Given the description of an element on the screen output the (x, y) to click on. 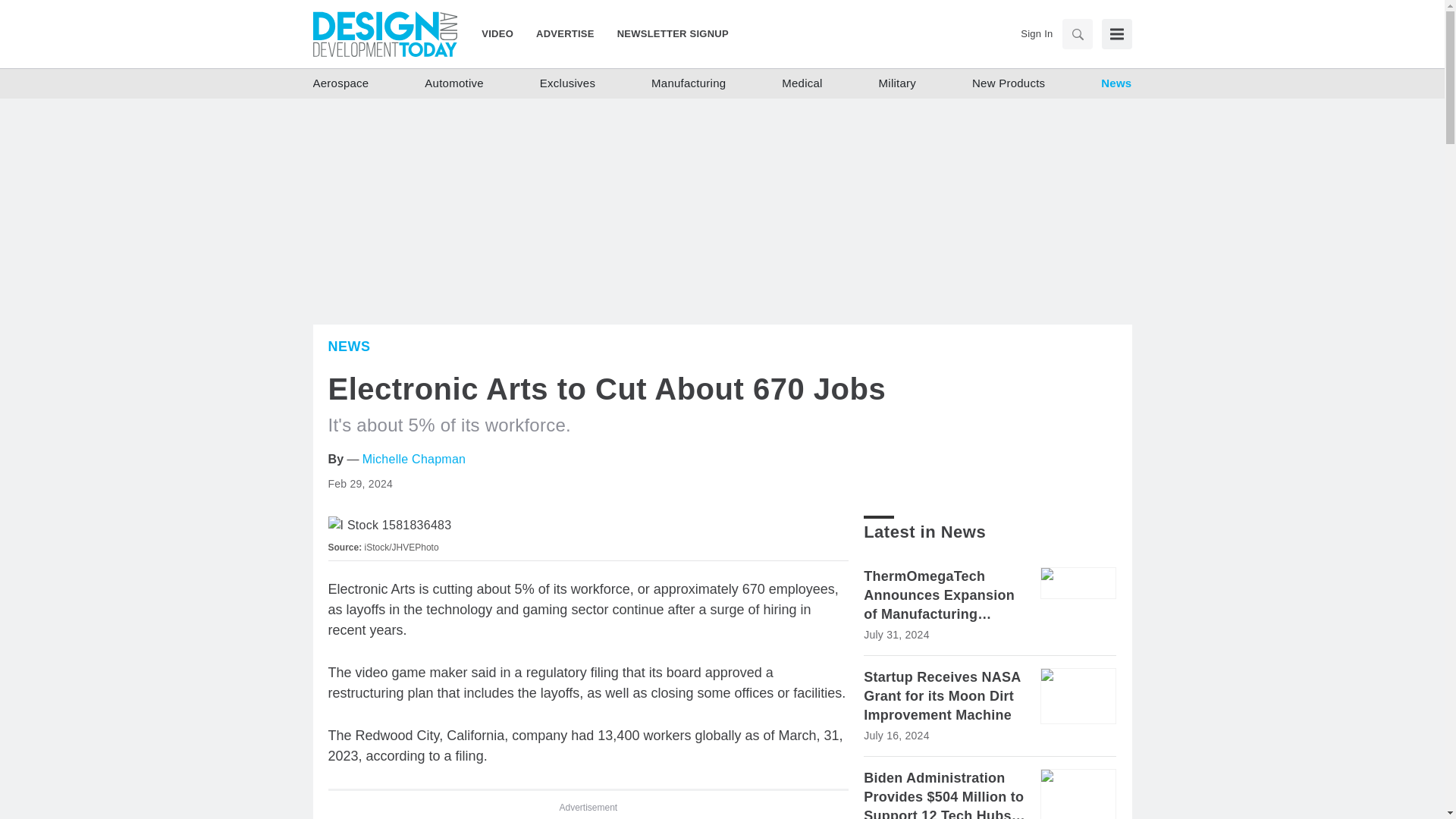
News (348, 346)
Aerospace (340, 83)
NEWSLETTER SIGNUP (667, 33)
Automotive (454, 83)
VIDEO (502, 33)
News (1115, 83)
ADVERTISE (564, 33)
Military (898, 83)
New Products (1008, 83)
Sign In (1036, 33)
